Given the description of an element on the screen output the (x, y) to click on. 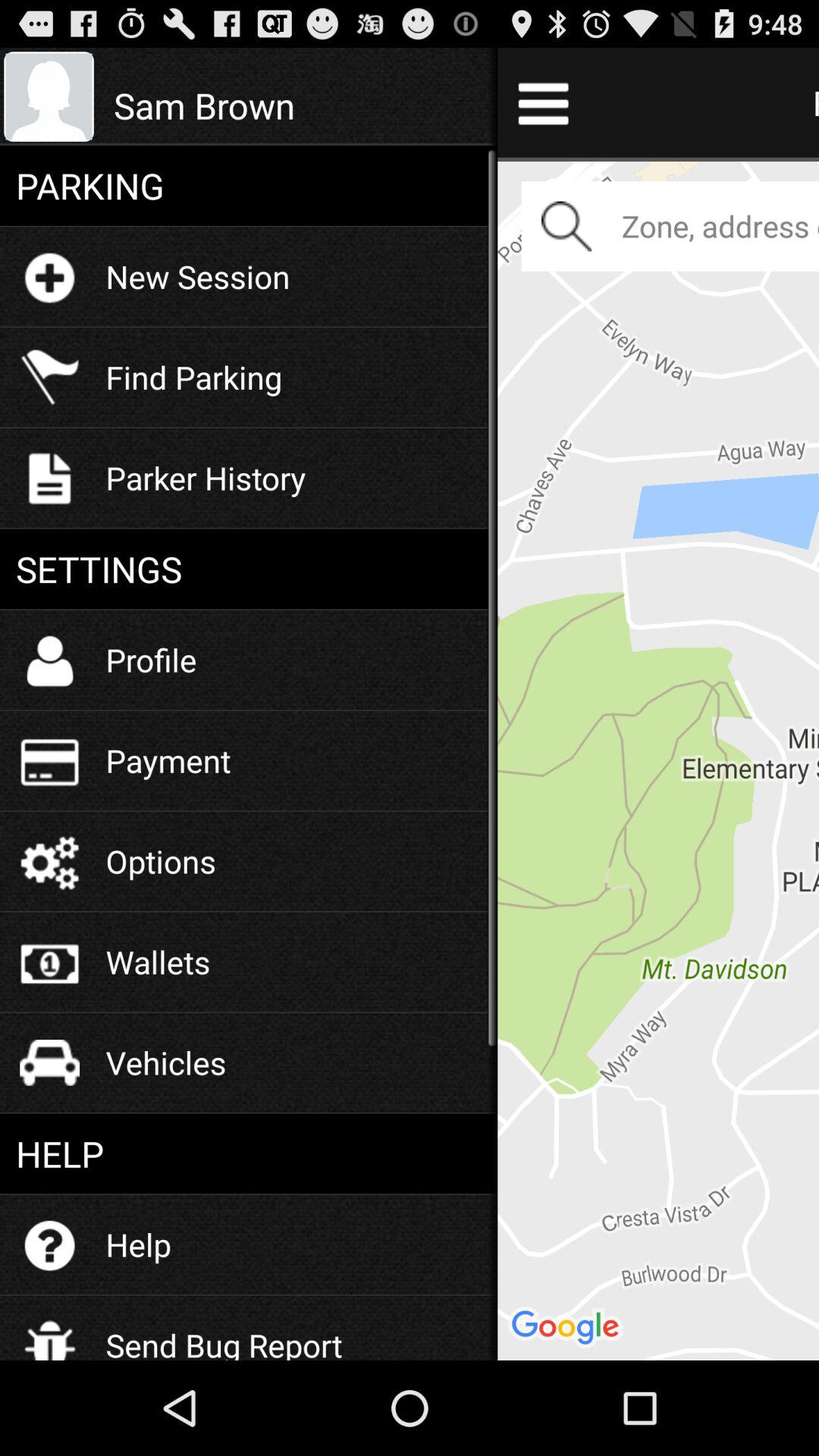
press icon below the find parking item (205, 477)
